Given the description of an element on the screen output the (x, y) to click on. 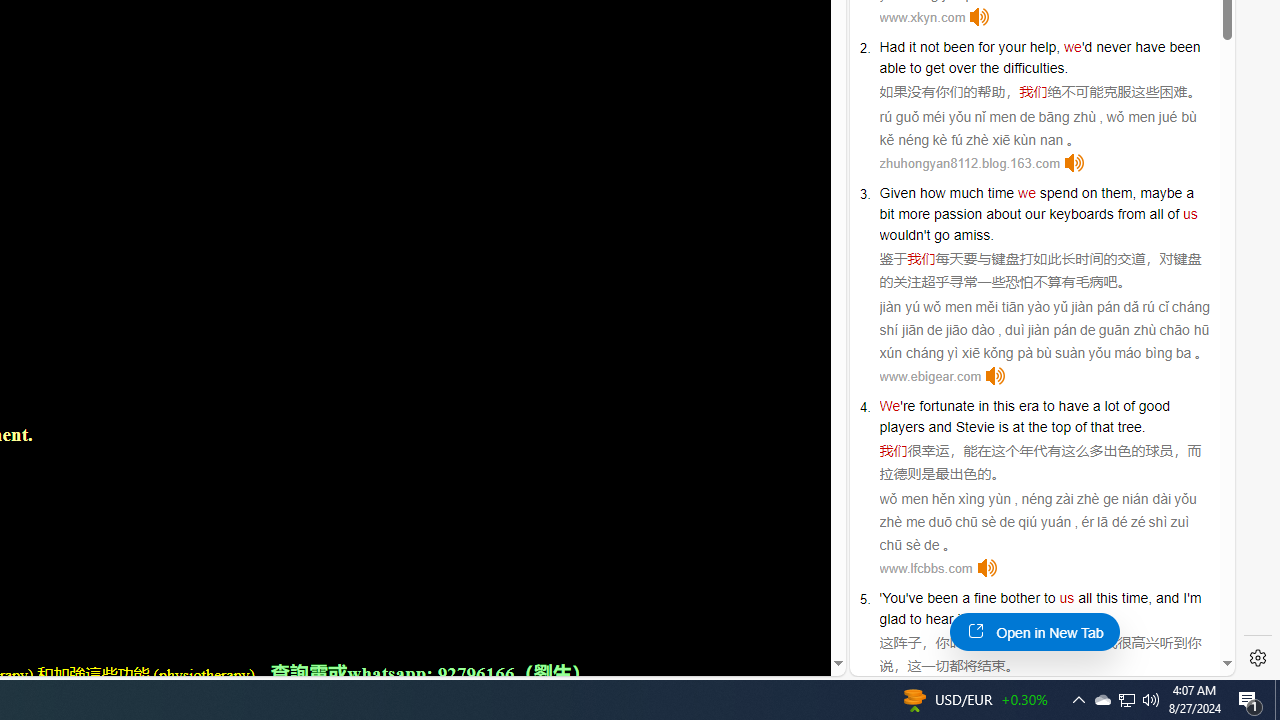
going (994, 619)
fortunate (947, 405)
'm (1193, 597)
